Given the description of an element on the screen output the (x, y) to click on. 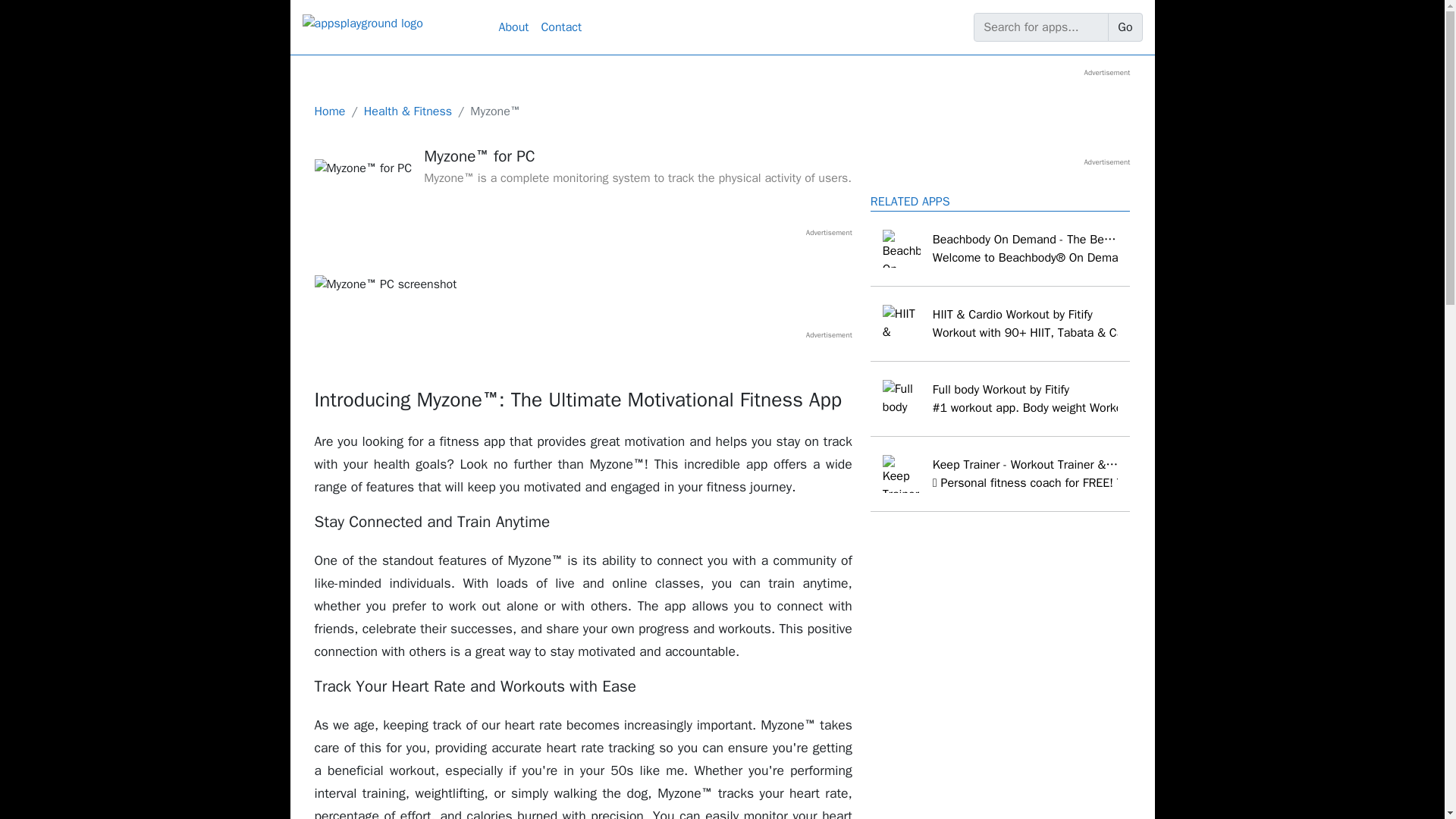
Full body Workout by Fitify for PC (1000, 398)
Contact (561, 27)
Beachbody On Demand - The Best Fitness Workouts for PC (1000, 248)
About (514, 27)
Home (329, 111)
